Given the description of an element on the screen output the (x, y) to click on. 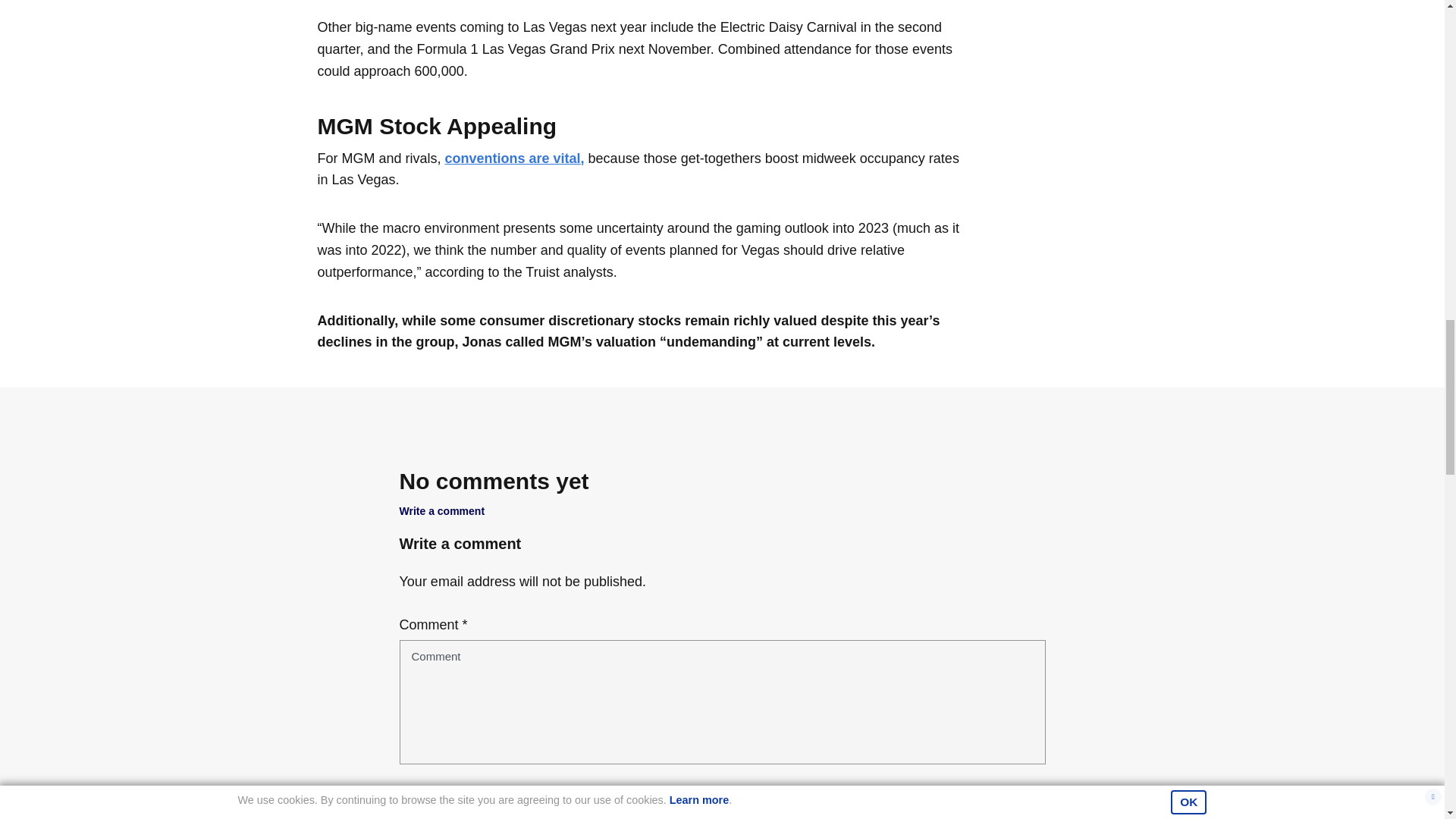
conventions are vital, (515, 158)
